Given the description of an element on the screen output the (x, y) to click on. 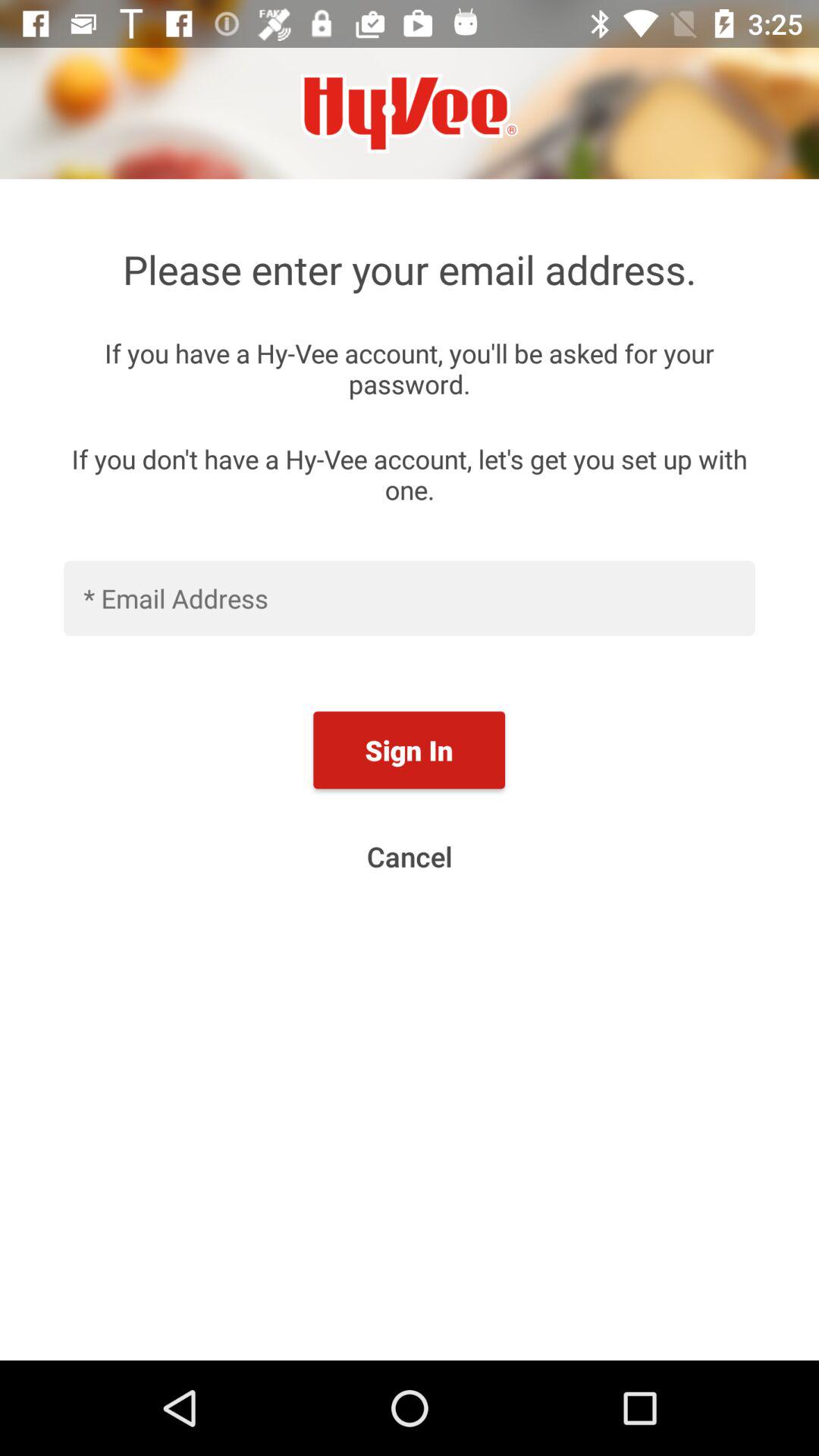
enter email adress (409, 597)
